Given the description of an element on the screen output the (x, y) to click on. 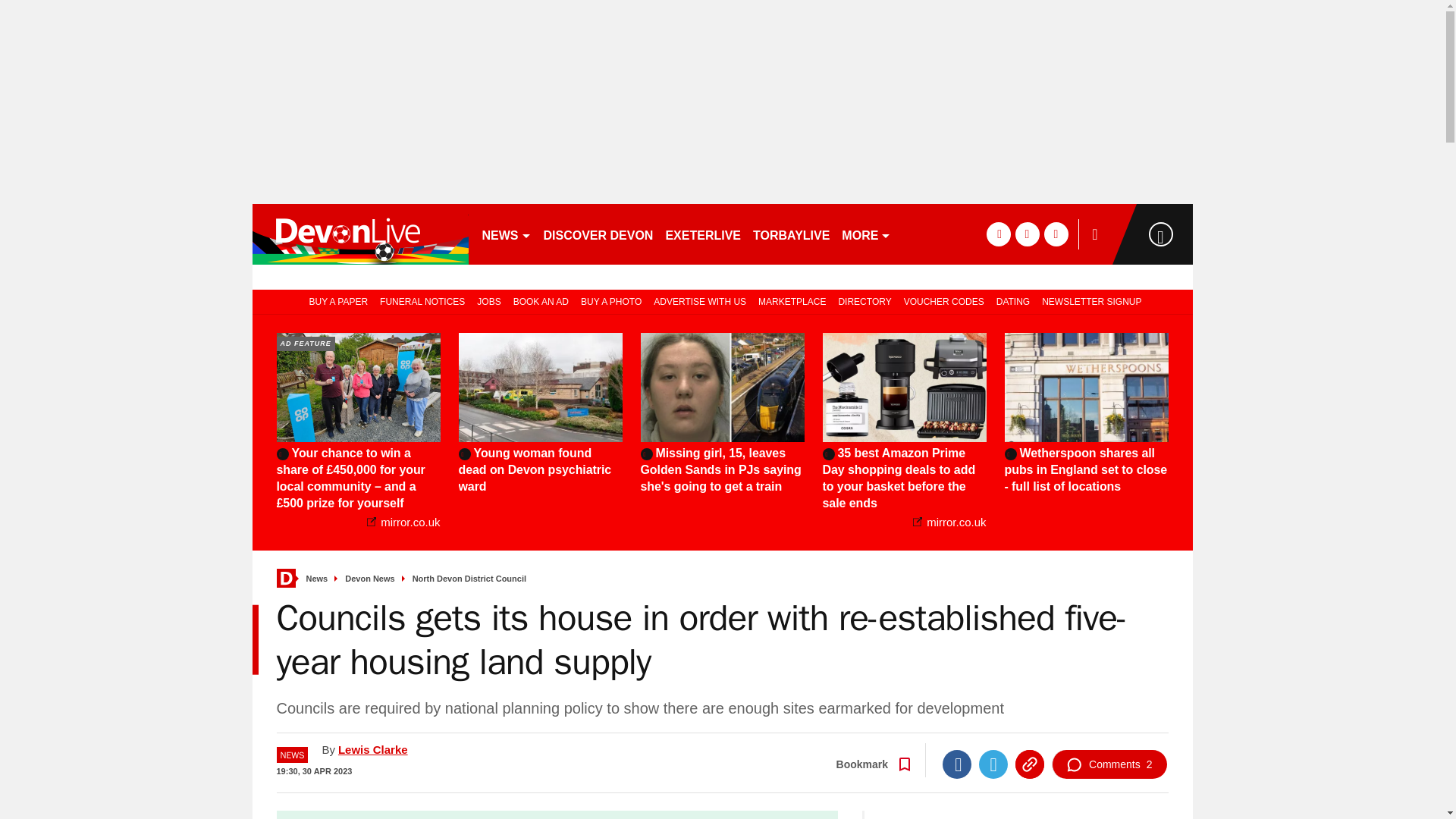
MORE (865, 233)
Twitter (992, 764)
facebook (997, 233)
EXETERLIVE (702, 233)
devonlive (359, 233)
DISCOVER DEVON (598, 233)
Comments (1108, 764)
Facebook (956, 764)
NEWS (506, 233)
TORBAYLIVE (790, 233)
instagram (1055, 233)
twitter (1026, 233)
